Given the description of an element on the screen output the (x, y) to click on. 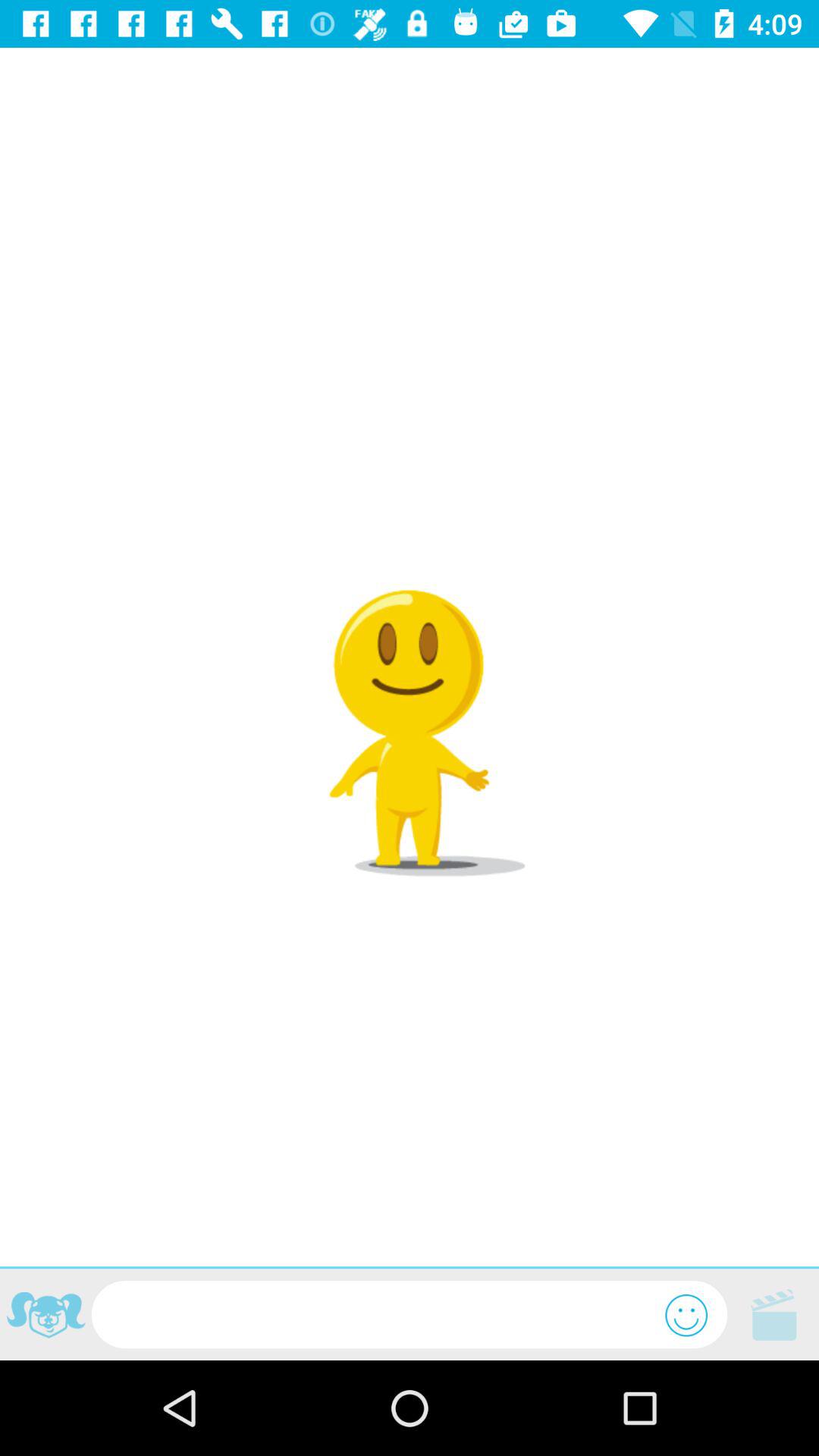
typing box (378, 1314)
